Given the description of an element on the screen output the (x, y) to click on. 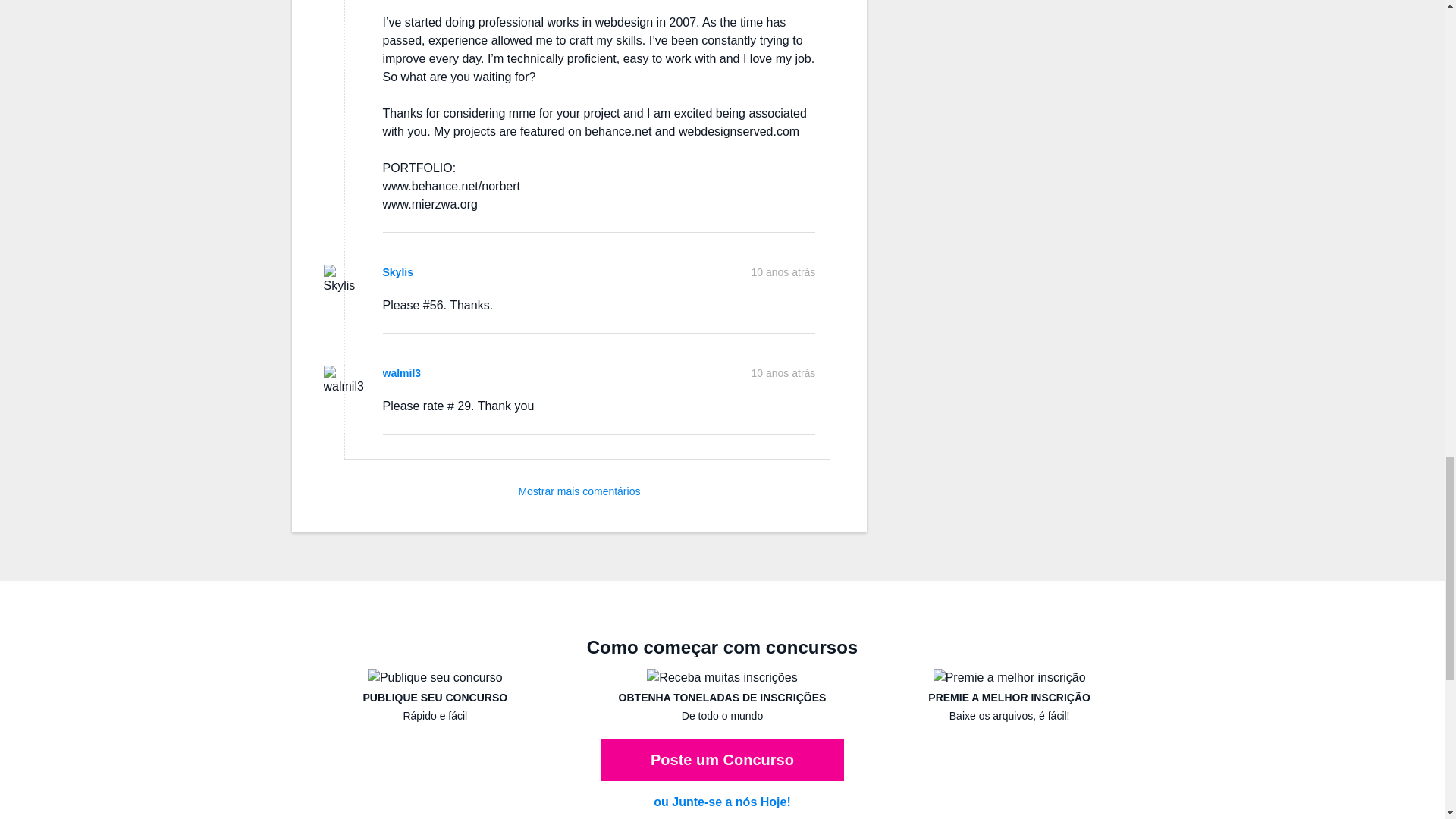
Poste um Concurso (721, 759)
Skylis (396, 272)
walmil3 (400, 372)
